Given the description of an element on the screen output the (x, y) to click on. 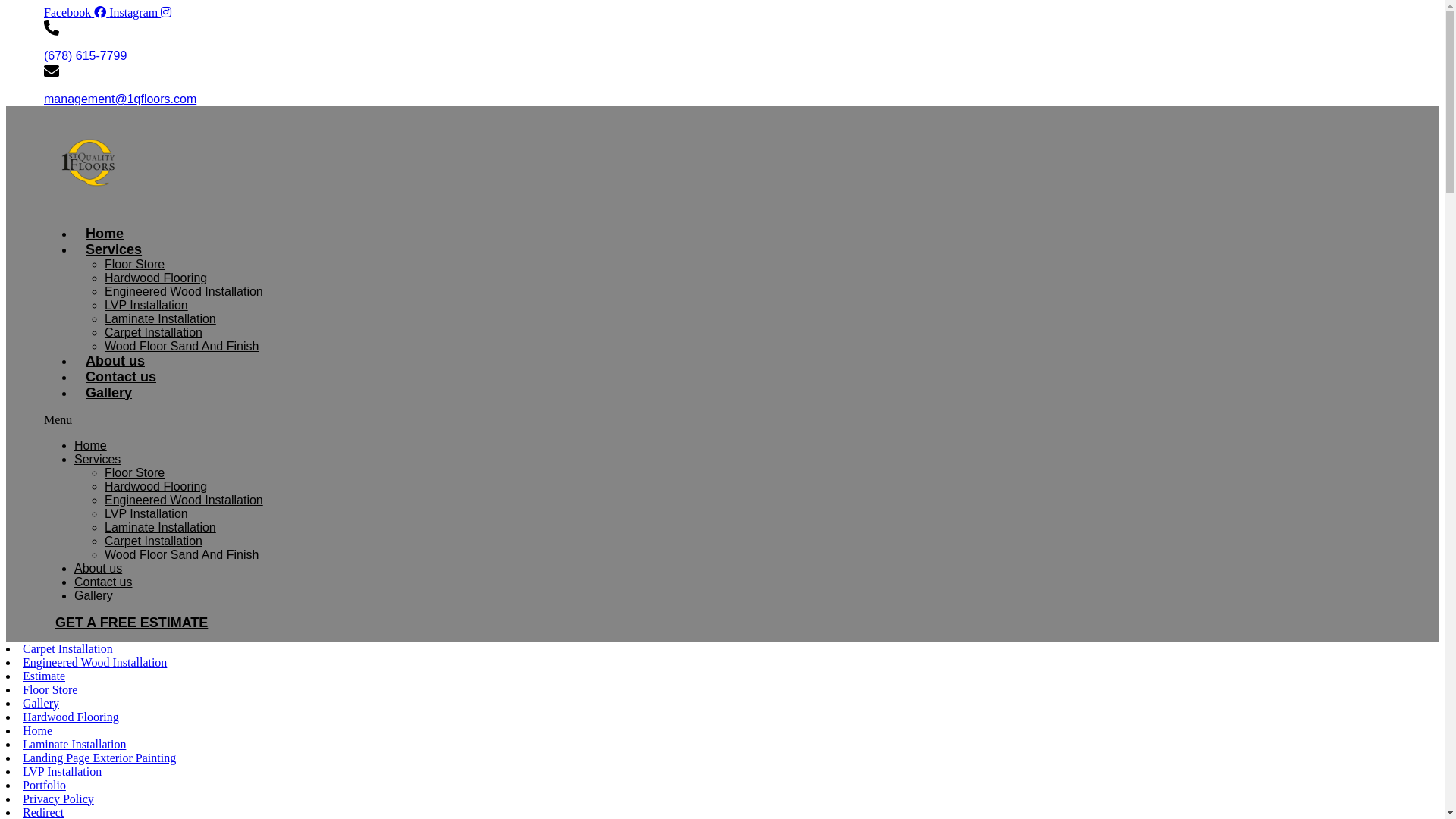
Home Element type: text (104, 232)
Engineered Wood Installation Element type: text (183, 291)
Engineered Wood Installation Element type: text (183, 498)
Home Element type: text (90, 444)
LVP Installation Element type: text (61, 770)
Contact us Element type: text (102, 580)
GET A FREE ESTIMATE Element type: text (131, 621)
Instagram Element type: text (140, 12)
(678) 615-7799 Element type: text (84, 55)
Facebook Element type: text (76, 12)
Wood Floor Sand And Finish Element type: text (181, 345)
Services Element type: text (113, 249)
Carpet Installation Element type: text (153, 539)
Laminate Installation Element type: text (160, 526)
Home Element type: text (37, 729)
Landing Page Exterior Painting Element type: text (98, 756)
Floor Store Element type: text (134, 263)
Wood Floor Sand And Finish Element type: text (181, 553)
Laminate Installation Element type: text (73, 743)
Estimate Element type: text (43, 674)
Laminate Installation Element type: text (160, 318)
Gallery Element type: text (93, 594)
Hardwood Flooring Element type: text (155, 485)
Carpet Installation Element type: text (67, 647)
Engineered Wood Installation Element type: text (94, 661)
Contact us Element type: text (120, 376)
Floor Store Element type: text (49, 688)
LVP Installation Element type: text (146, 512)
Services Element type: text (97, 457)
Redirect Element type: text (42, 811)
Portfolio Element type: text (43, 784)
Hardwood Flooring Element type: text (70, 715)
LVP Installation Element type: text (146, 304)
Floor Store Element type: text (134, 471)
Hardwood Flooring Element type: text (155, 277)
Privacy Policy Element type: text (58, 797)
management@1qfloors.com Element type: text (119, 98)
Carpet Installation Element type: text (153, 332)
Skip to content Element type: text (5, 5)
About us Element type: text (98, 567)
Gallery Element type: text (108, 391)
Gallery Element type: text (40, 702)
About us Element type: text (115, 359)
